Given the description of an element on the screen output the (x, y) to click on. 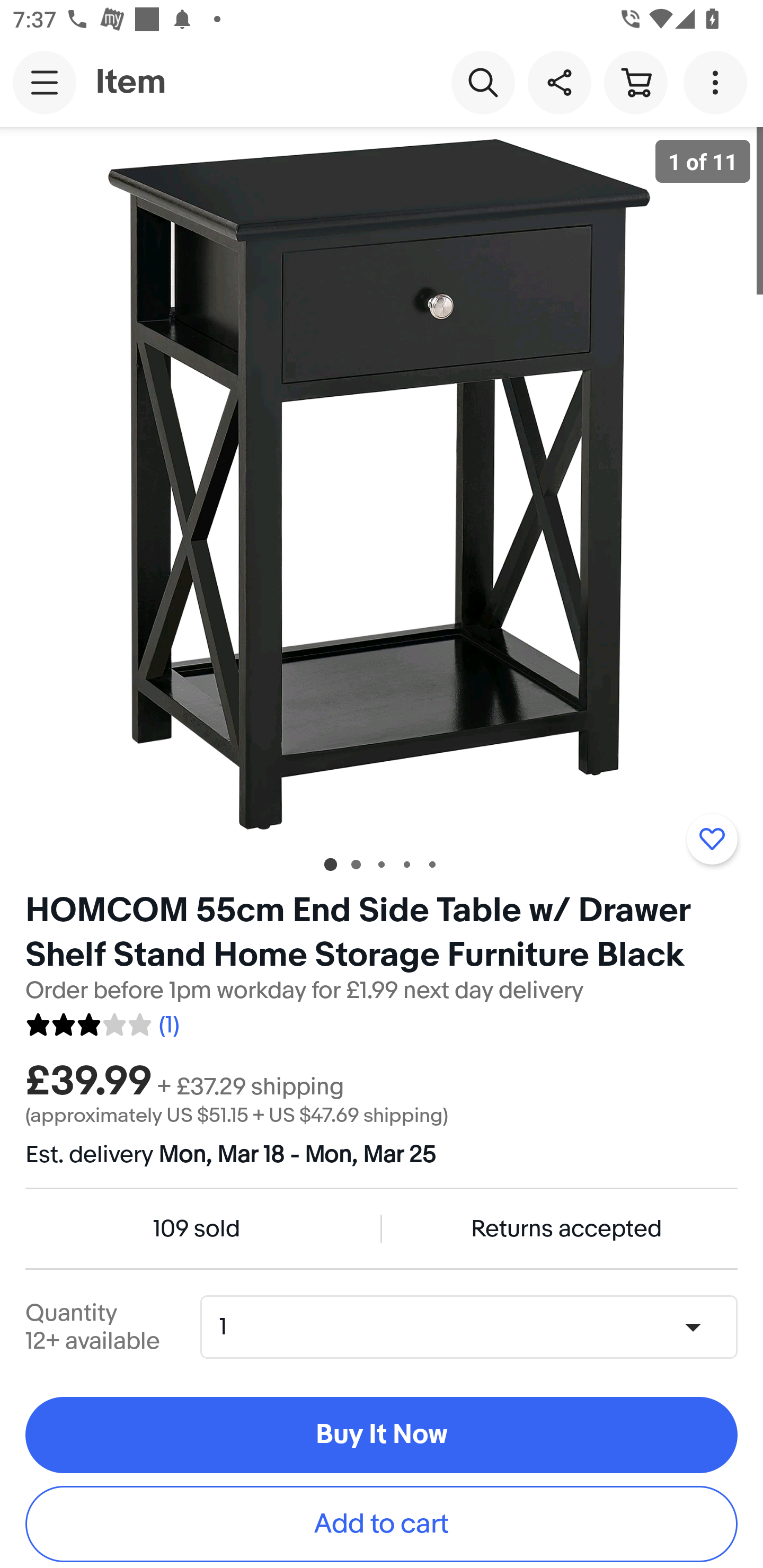
Main navigation, open (44, 82)
Search (482, 81)
Share this item (559, 81)
Cart button shopping cart (635, 81)
More options (718, 81)
Item image 1 of 11 (381, 482)
Add to watchlist (711, 838)
1 review. Average rating 3.0 out of five 6.0 (1) (102, 1021)
Quantity,1,12+ available 1 (474, 1326)
Buy It Now (381, 1435)
Add to cart (381, 1523)
